Given the description of an element on the screen output the (x, y) to click on. 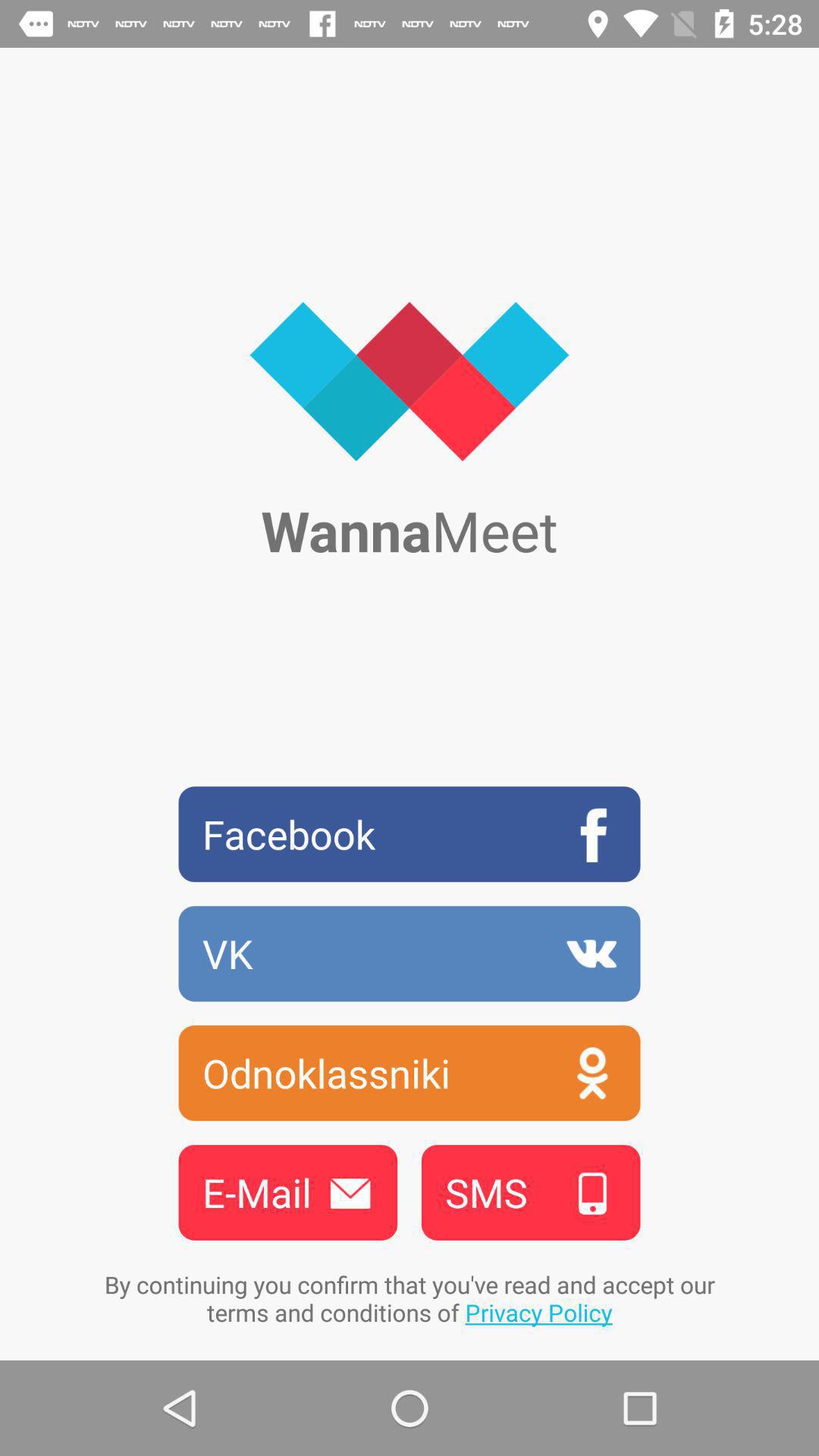
flip until the by continuing you item (409, 1298)
